Given the description of an element on the screen output the (x, y) to click on. 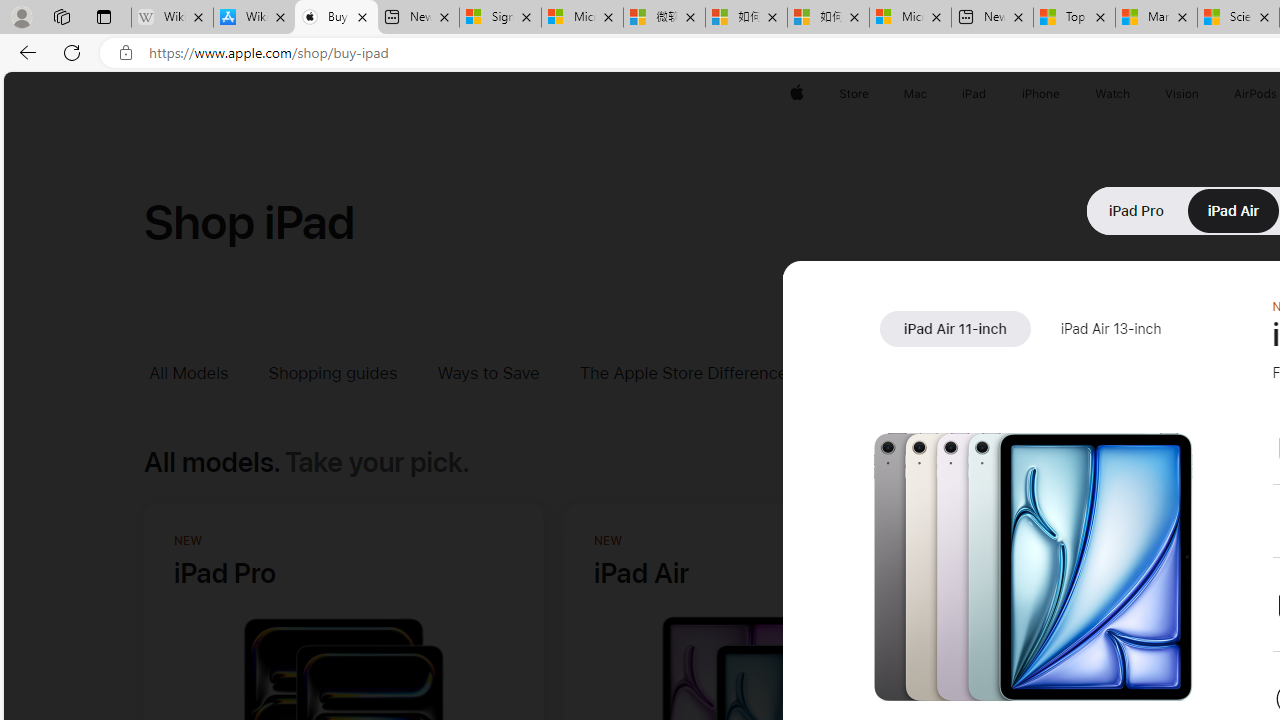
Top Stories - MSN (1074, 17)
iPad Air 13-inch (1110, 329)
